Given the description of an element on the screen output the (x, y) to click on. 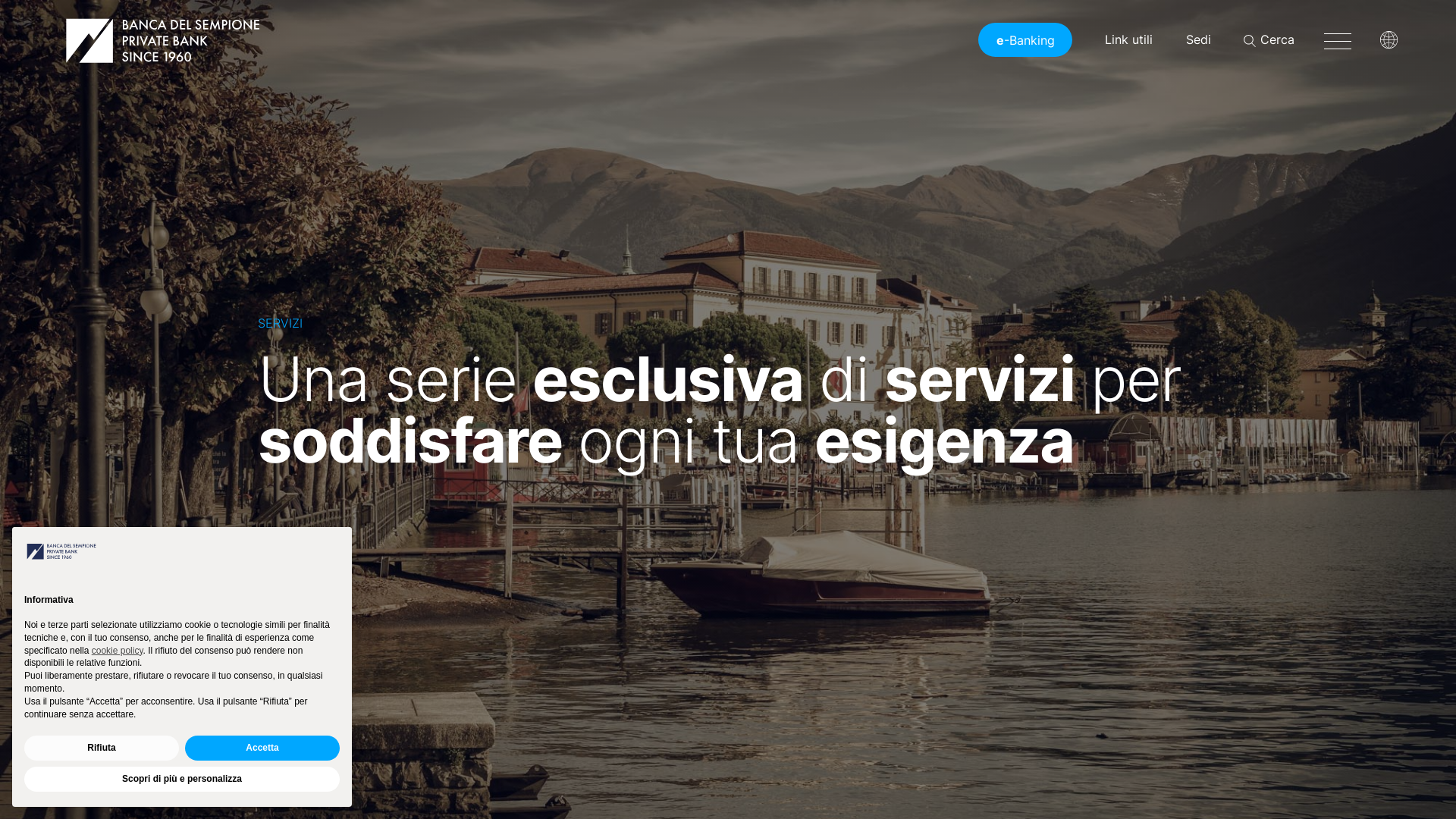
e-Banking Element type: text (1025, 39)
Accetta Element type: text (262, 747)
Cerca Element type: text (1268, 39)
Link utili Element type: text (1128, 39)
Rifiuta Element type: text (101, 747)
Sedi Element type: text (1198, 39)
cookie policy Element type: text (117, 650)
